Given the description of an element on the screen output the (x, y) to click on. 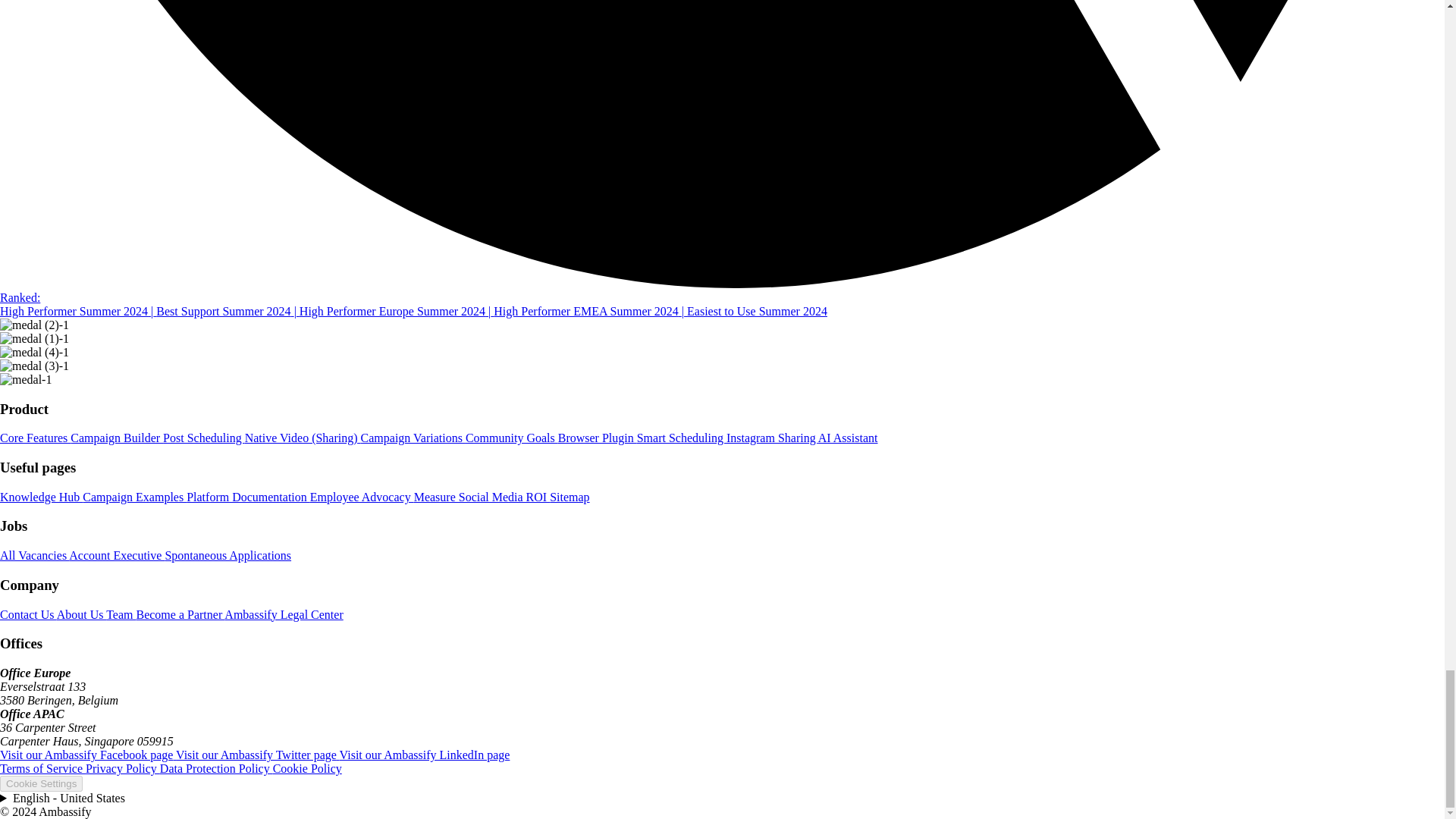
Visit our Ambassify Twitter page (257, 754)
Visit our Ambassify Facebook page (88, 754)
Visit our Ambassify LinkedIn page (425, 754)
